Given the description of an element on the screen output the (x, y) to click on. 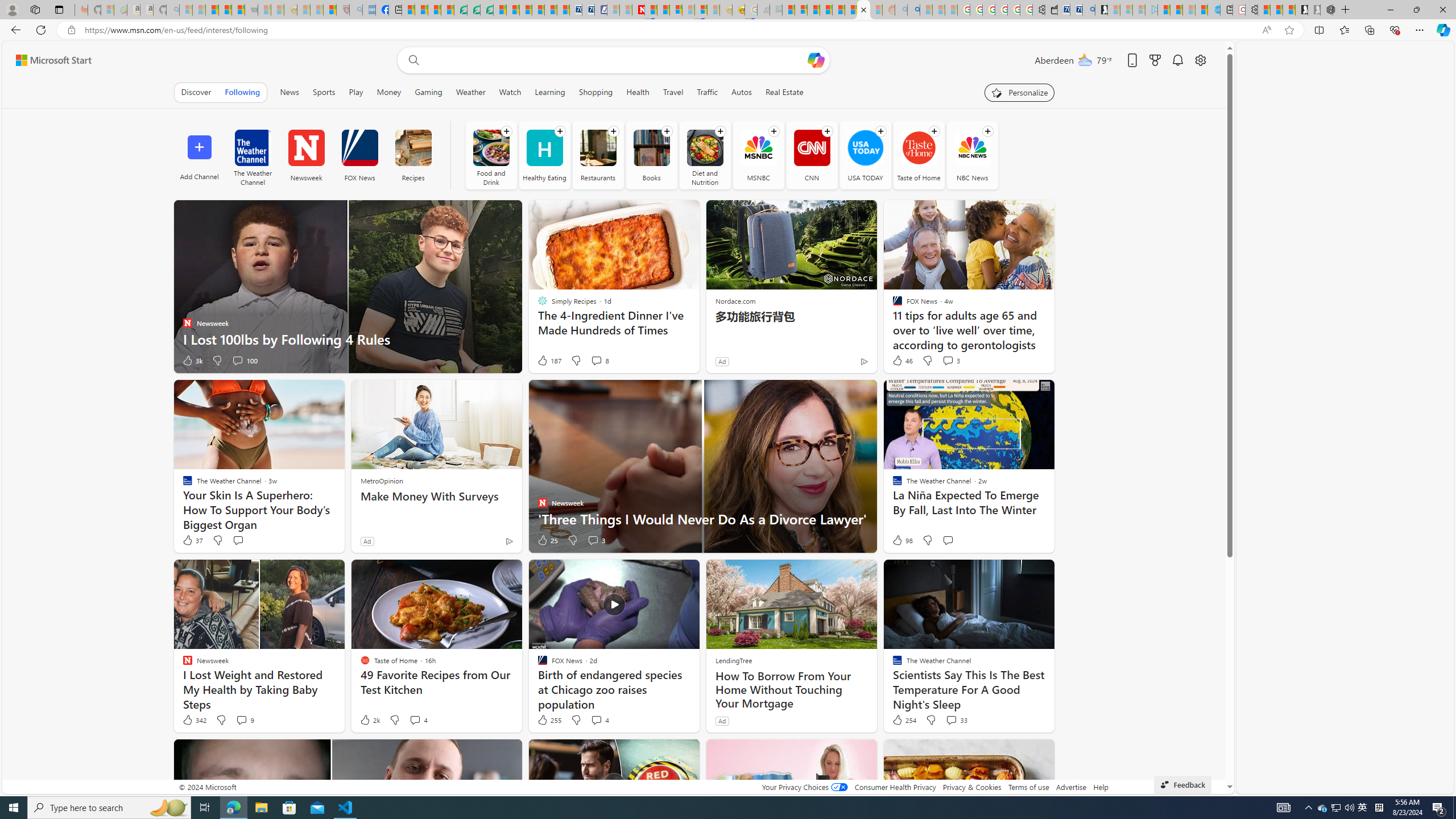
View comments 3 Comment (592, 540)
The Weather Channel (252, 155)
View comments 4 Comment (598, 719)
Shopping (595, 92)
Make Money With Surveys (435, 496)
View comments 33 Comment (956, 719)
14 Common Myths Debunked By Scientific Facts (663, 9)
Recipes (412, 147)
Mostly cloudy (1085, 59)
